Given the description of an element on the screen output the (x, y) to click on. 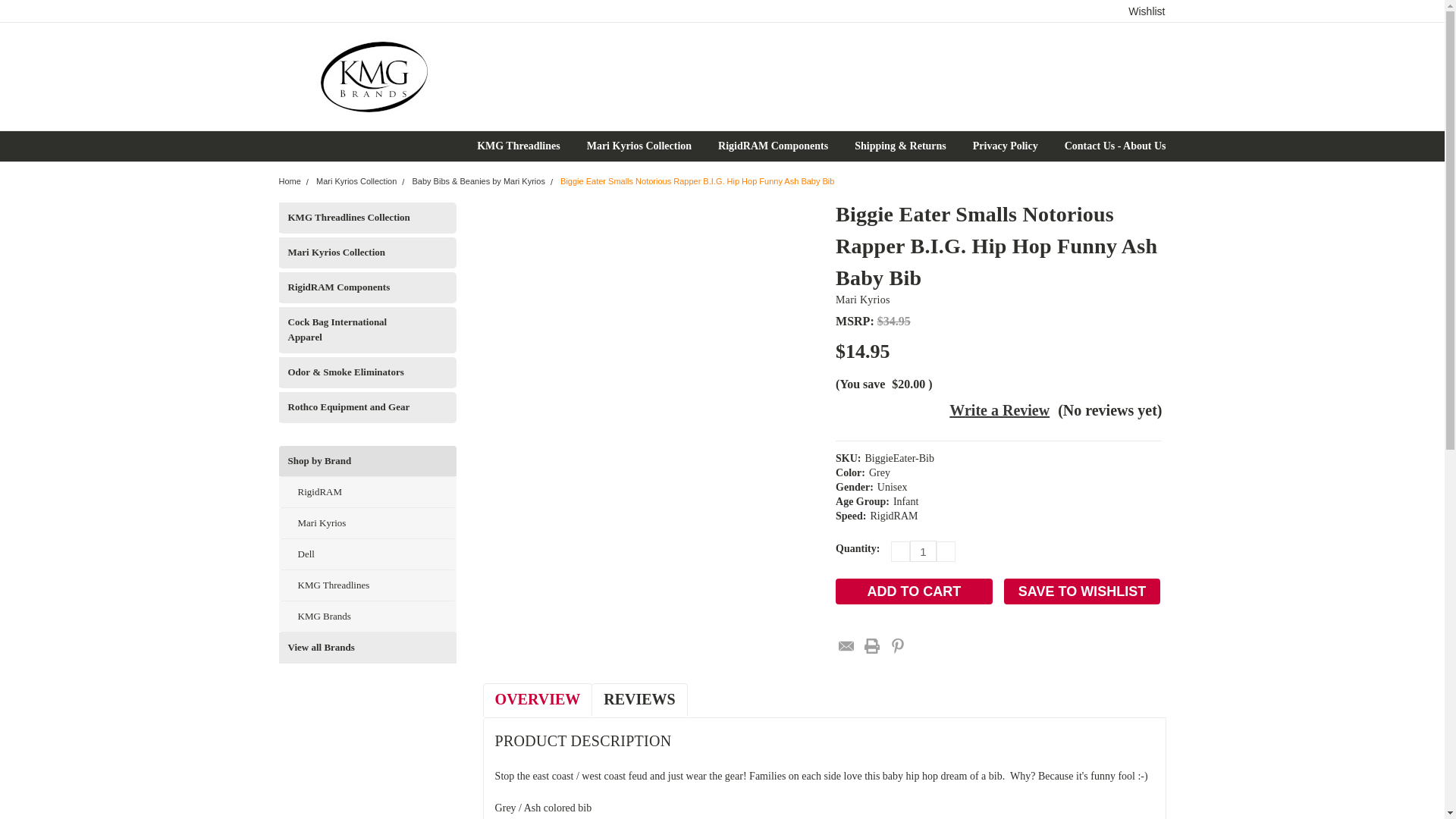
Wishlist (1146, 10)
Email (845, 645)
Print (871, 645)
1 (923, 550)
Pinterest (897, 645)
Add to Cart (913, 591)
